Given the description of an element on the screen output the (x, y) to click on. 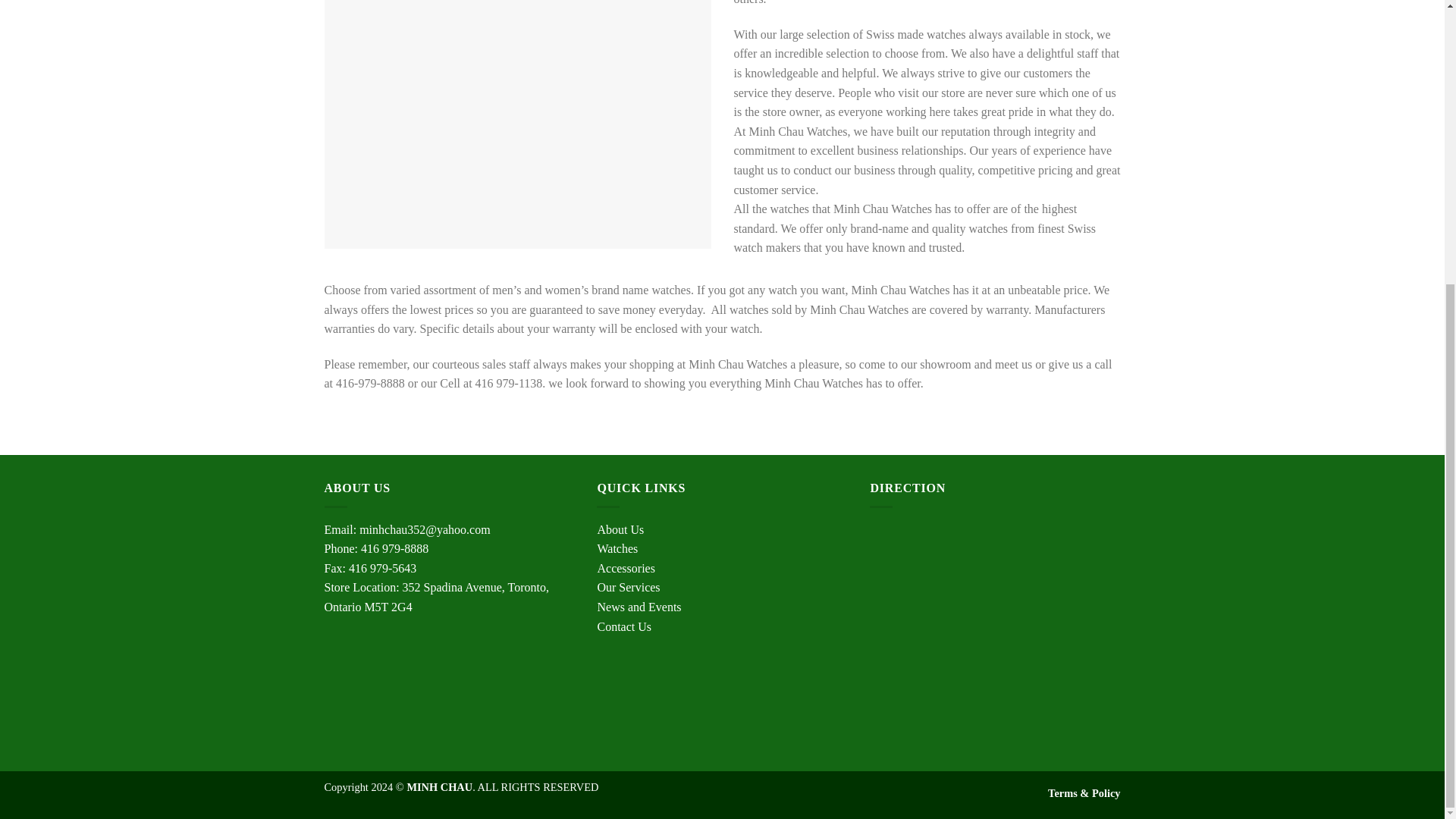
Our Services (627, 586)
Accessories (624, 567)
About Us (619, 529)
News and Events (638, 606)
Watches (616, 548)
Contact Us (623, 626)
